Given the description of an element on the screen output the (x, y) to click on. 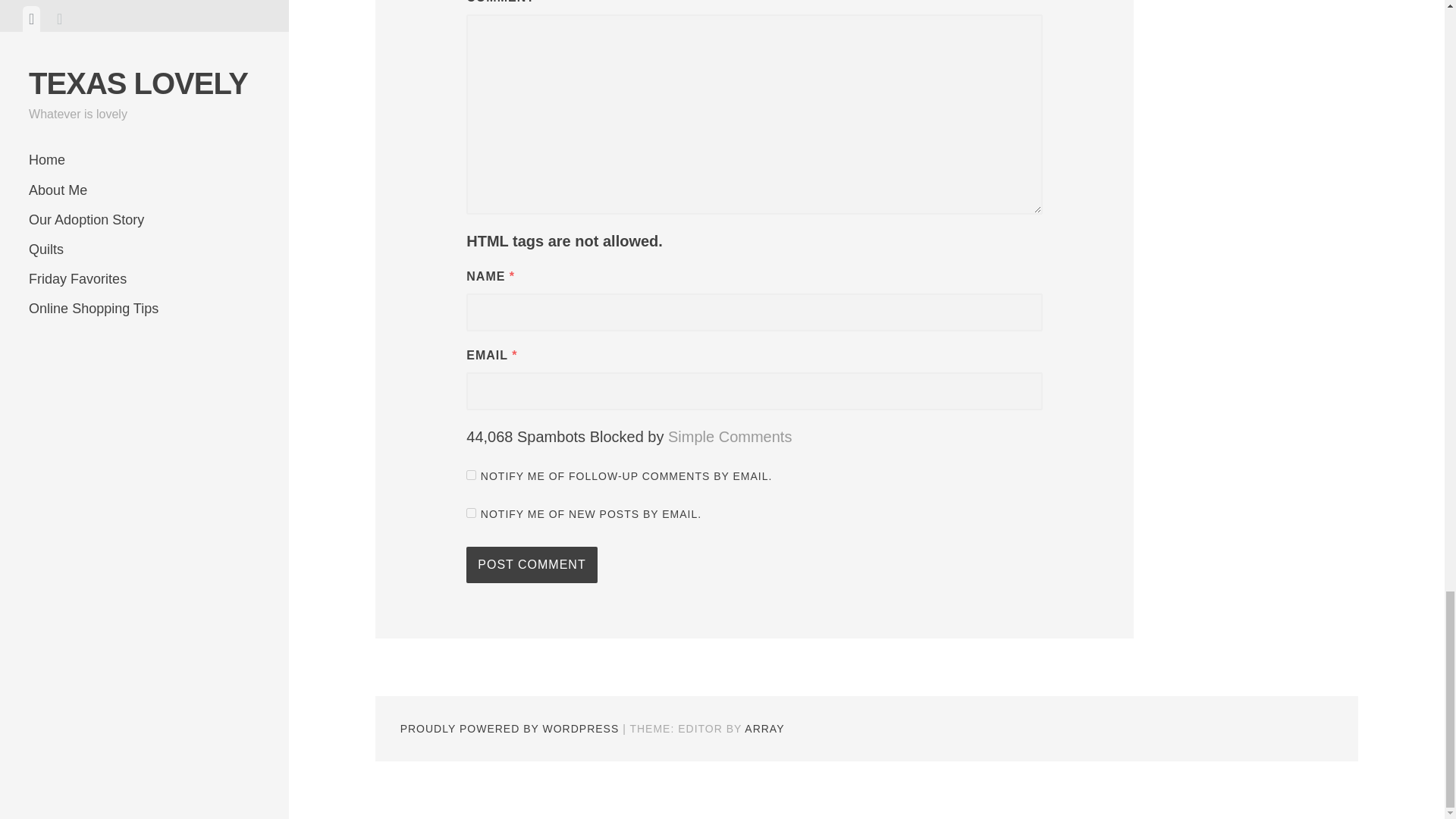
Post Comment (530, 565)
subscribe (470, 474)
Simple Comments (730, 436)
subscribe (470, 512)
